Given the description of an element on the screen output the (x, y) to click on. 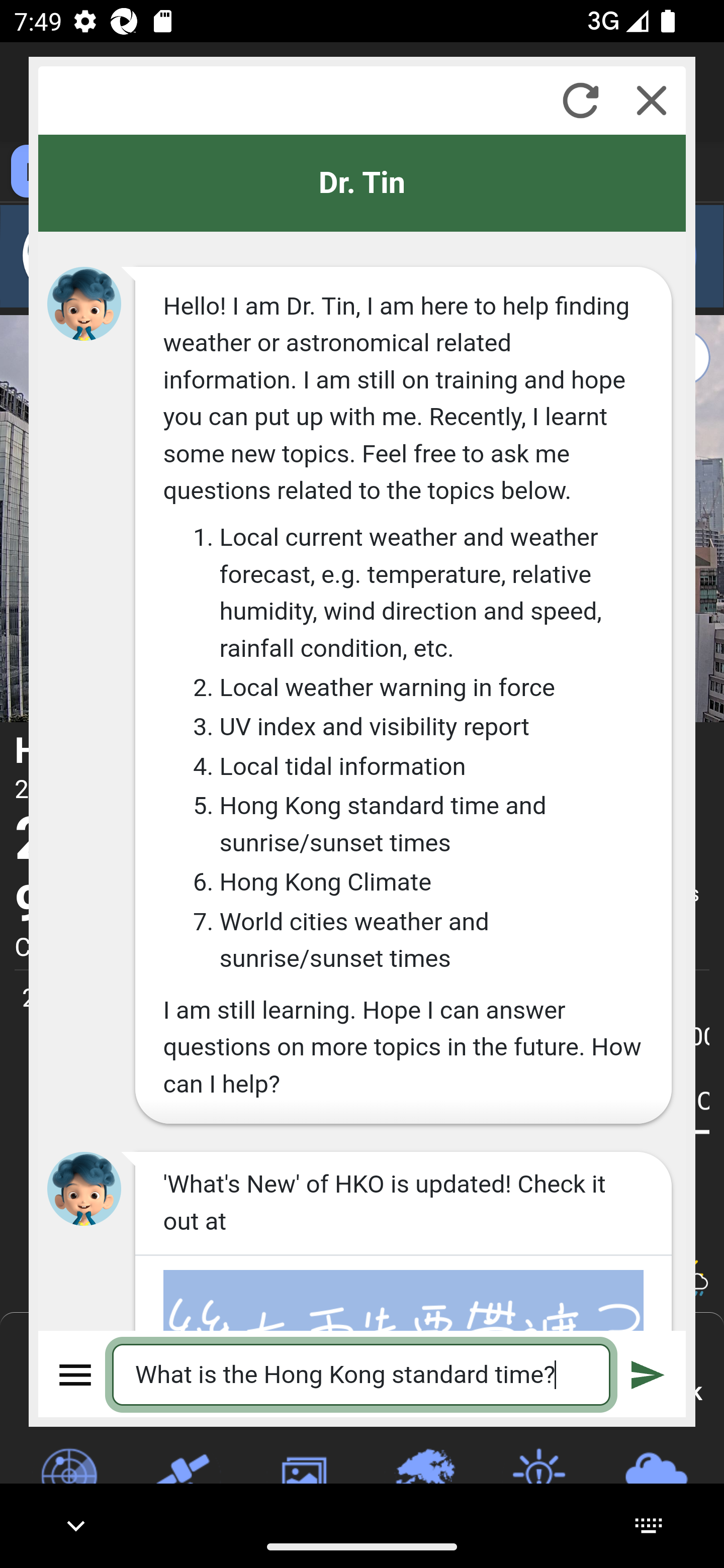
Refresh (580, 100)
Close (651, 100)
Menu (75, 1374)
Submit (648, 1374)
What is the Hong Kong standard time? (361, 1374)
